Given the description of an element on the screen output the (x, y) to click on. 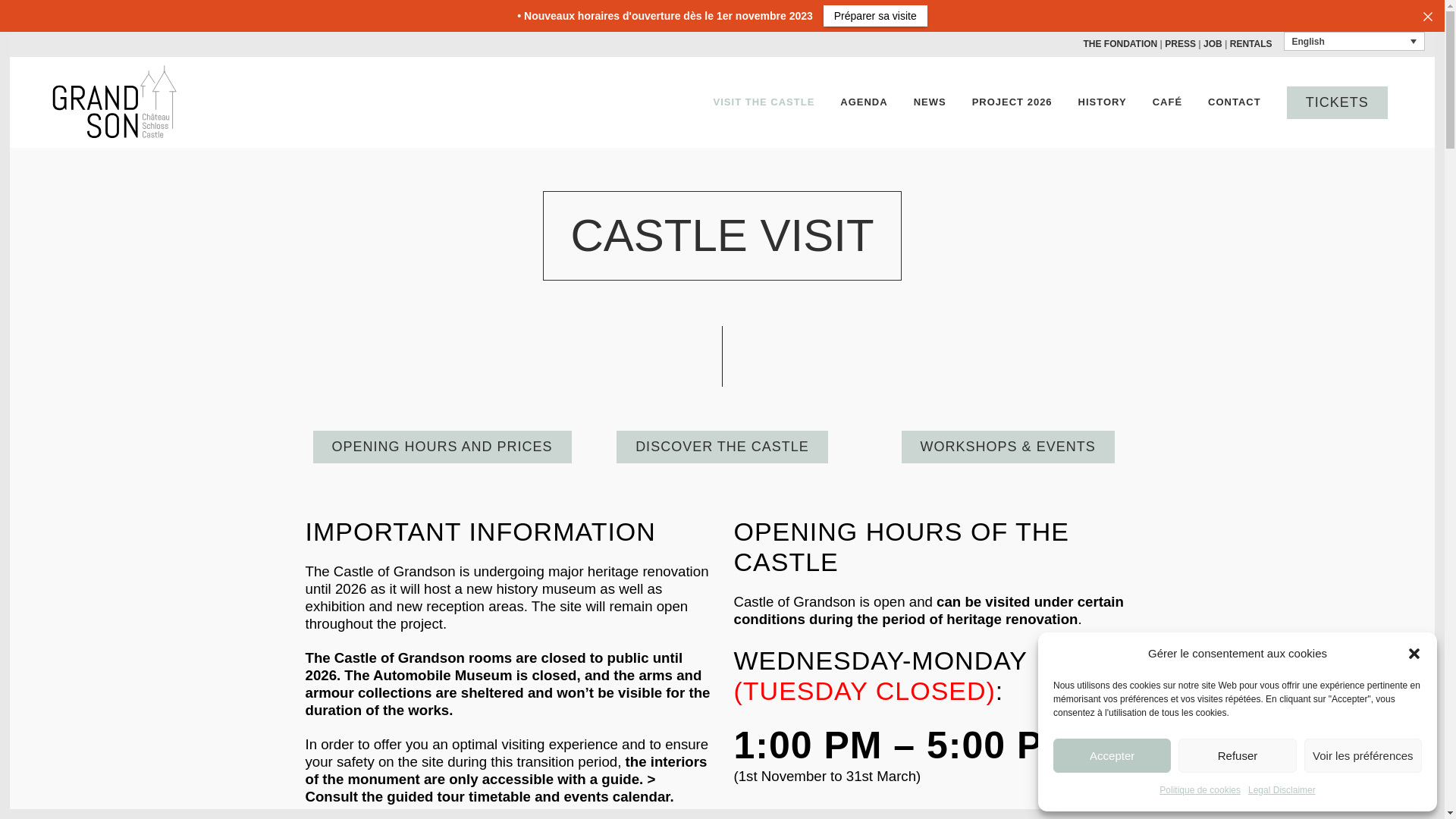
Refuser Element type: text (1236, 755)
PRESS Element type: text (1179, 43)
DISCOVER THE CASTLE Element type: text (722, 446)
Legal Disclaimer Element type: text (1281, 790)
> Element type: text (650, 779)
Close Element type: hover (1427, 16)
AGENDA Element type: text (863, 101)
RENTALS Element type: text (1251, 43)
Politique de cookies Element type: text (1199, 790)
VISIT THE CASTLE Element type: text (764, 101)
THE FONDATION Element type: text (1119, 43)
WORKSHOPS & EVENTS Element type: text (1007, 446)
CONTACT Element type: text (1234, 101)
JOB Element type: text (1212, 43)
English Element type: text (1353, 40)
NEWS Element type: text (929, 101)
PROJECT 2026 Element type: text (1012, 101)
HISTORY Element type: text (1102, 101)
OPENING HOURS AND PRICES Element type: text (441, 446)
Accepter Element type: text (1111, 755)
TICKETS Element type: text (1336, 102)
